Given the description of an element on the screen output the (x, y) to click on. 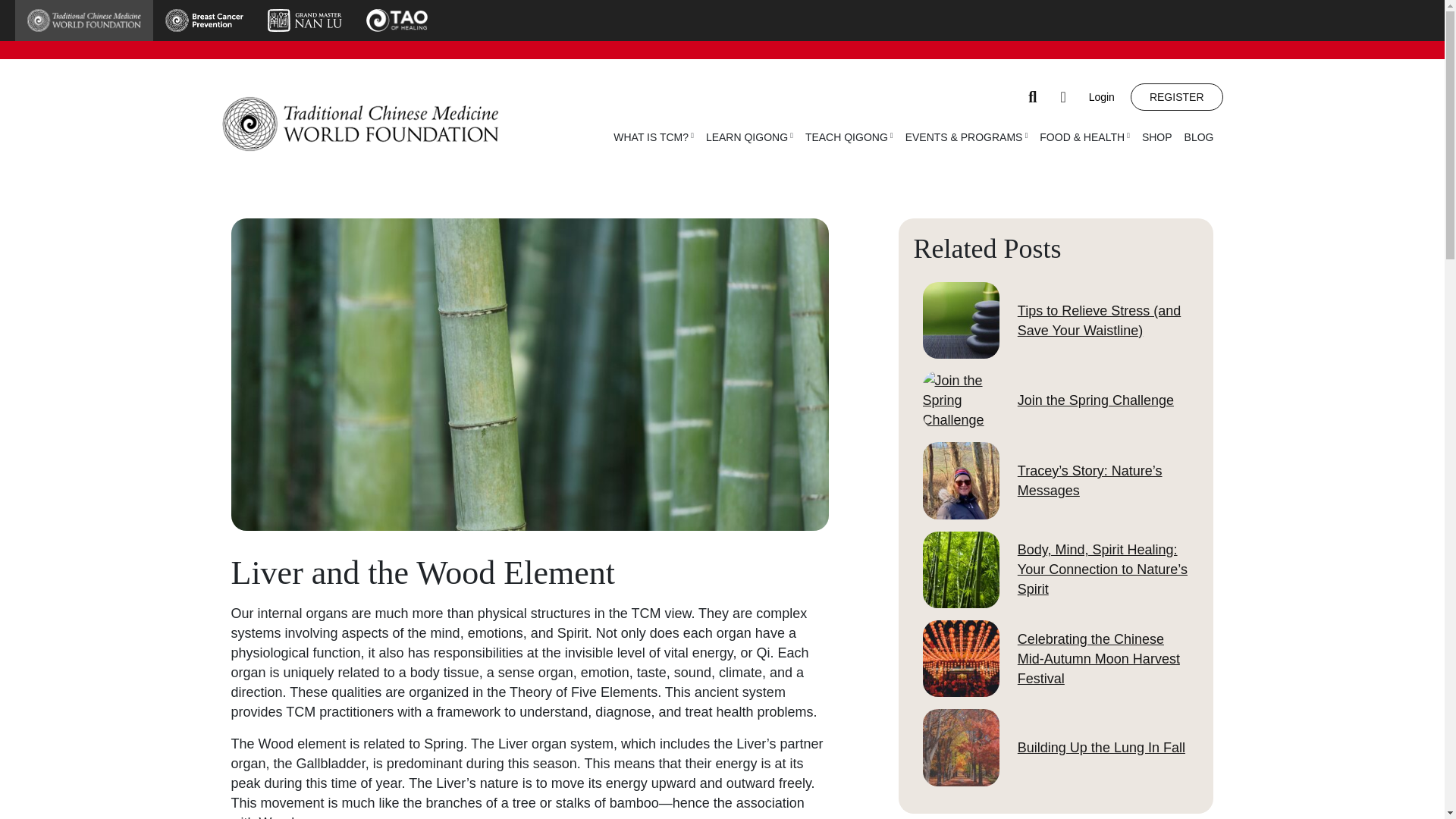
Search (1032, 96)
LEARN QIGONG (749, 136)
Learn Qigong (749, 136)
Login (1107, 96)
Register (1177, 96)
REGISTER (1177, 96)
Search (1032, 96)
Cart (1063, 96)
WHAT IS TCM? (653, 136)
TEACH QIGONG (849, 136)
Cart (1063, 96)
What Is TCM? (653, 136)
Login (1107, 96)
